Given the description of an element on the screen output the (x, y) to click on. 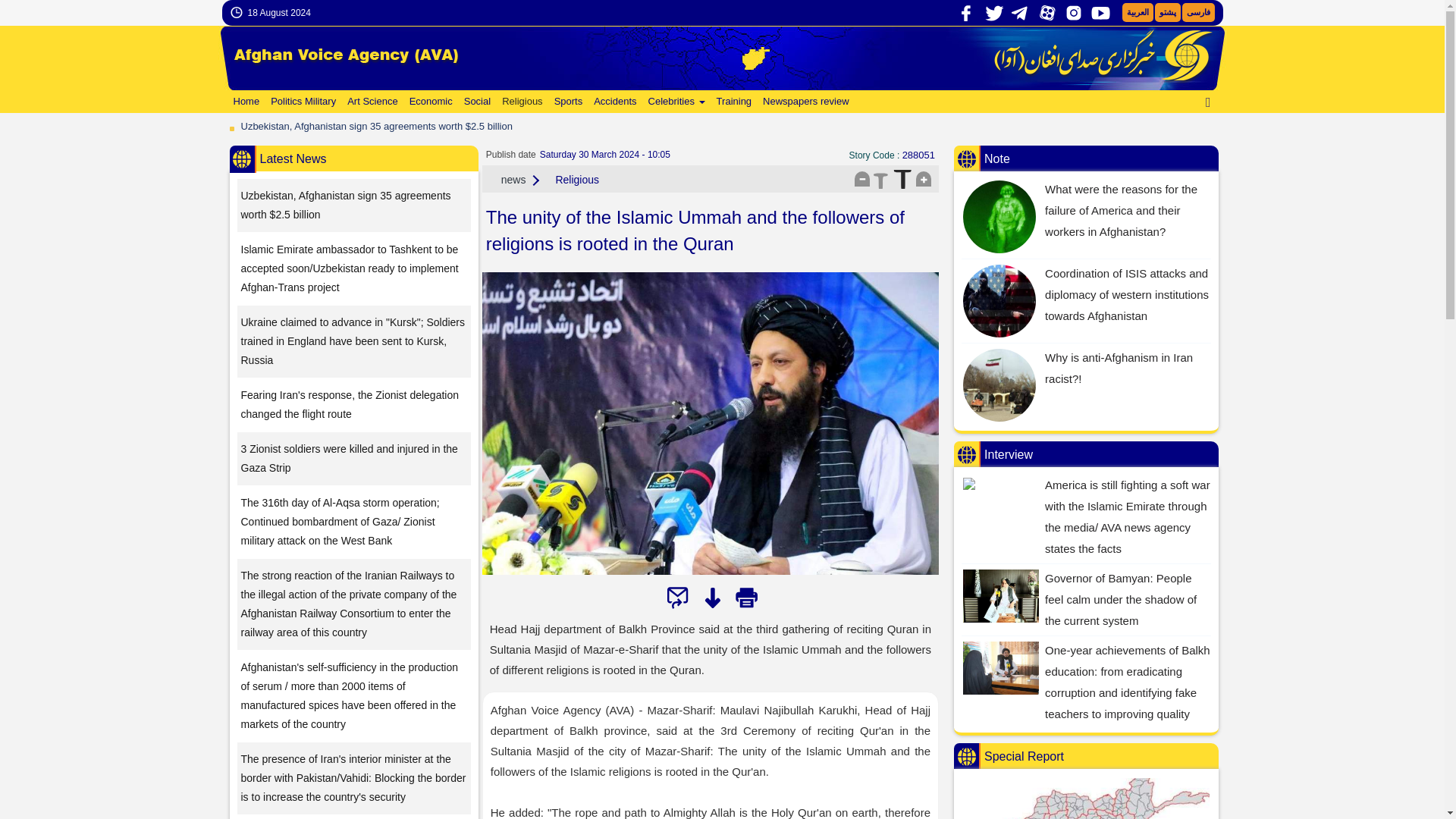
Print Edition (746, 597)
Training (732, 101)
Sports (566, 101)
Politics Military (301, 101)
Home (244, 101)
Celebrities (674, 101)
Economic (429, 101)
Accidents (613, 101)
Downloading the File (711, 597)
